Given the description of an element on the screen output the (x, y) to click on. 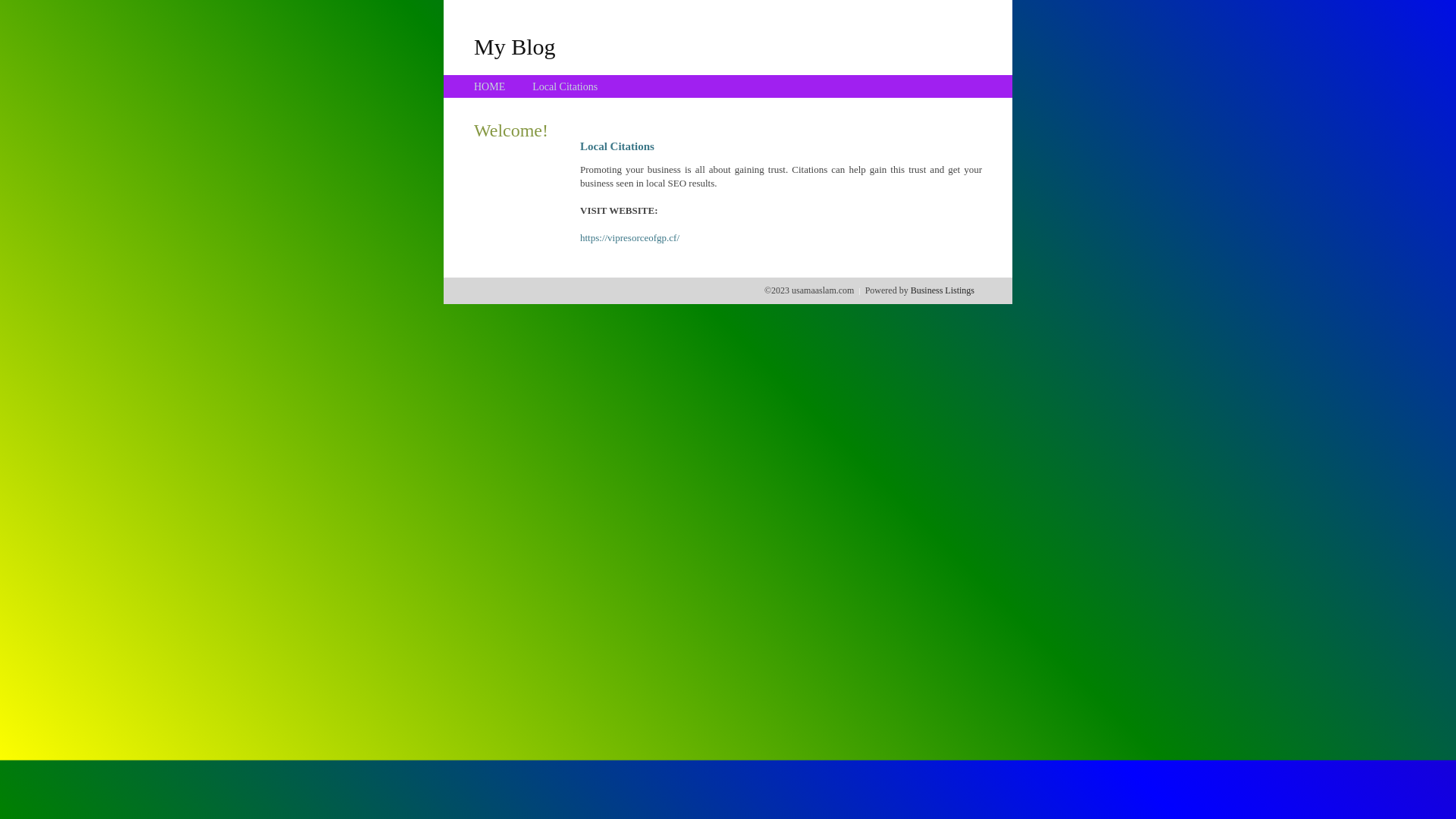
Business Listings Element type: text (942, 290)
https://vipresorceofgp.cf/ Element type: text (629, 237)
My Blog Element type: text (514, 46)
Local Citations Element type: text (564, 86)
HOME Element type: text (489, 86)
